Given the description of an element on the screen output the (x, y) to click on. 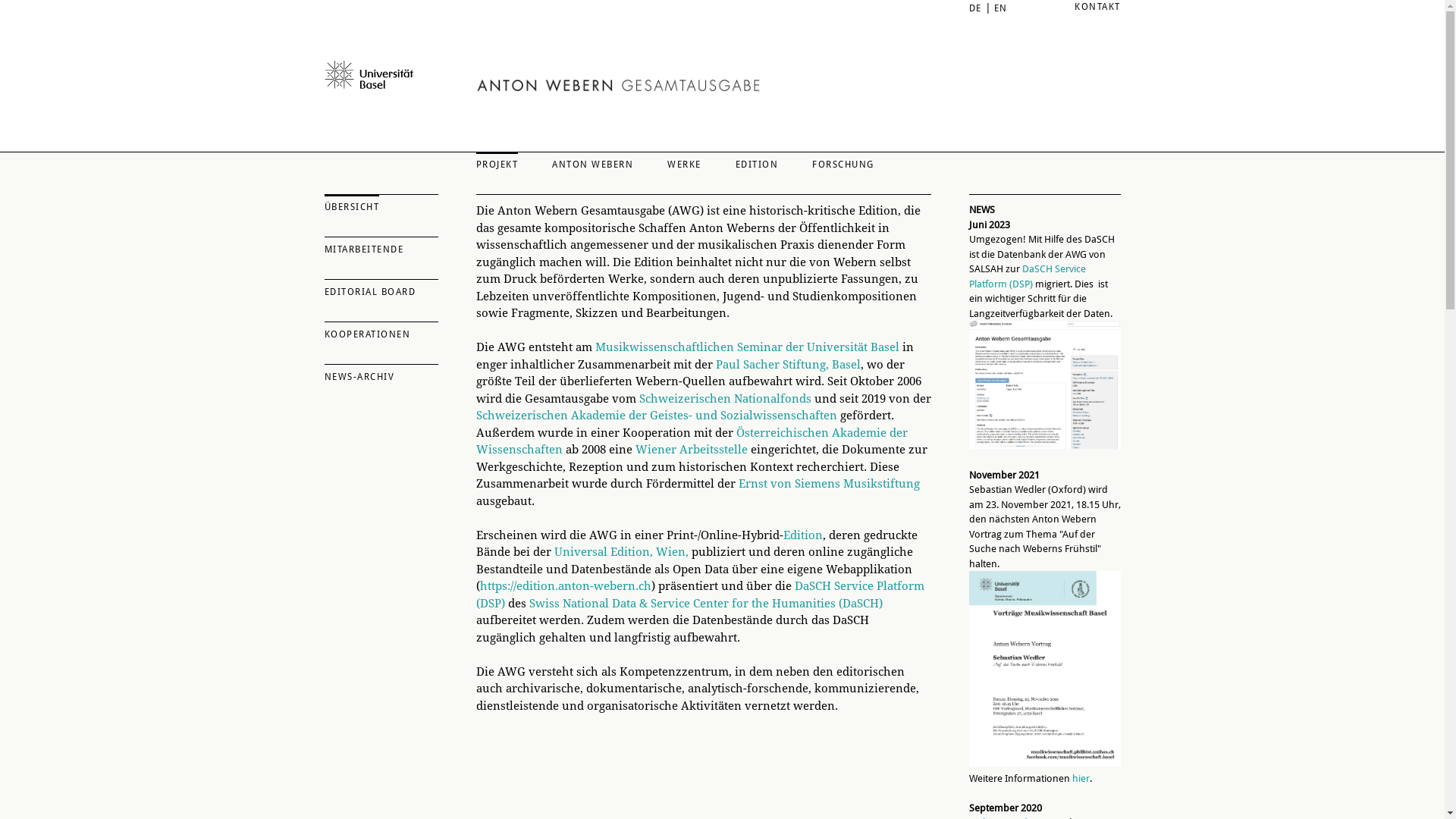
NEWS-ARCHIV Element type: text (381, 373)
Schweizerischen Nationalfonds Element type: text (724, 397)
EDITORIAL BOARD Element type: text (381, 288)
FORSCHUNG Element type: text (843, 161)
WERKE Element type: text (684, 161)
Universal Edition, Wien, Element type: text (620, 551)
hier Element type: text (1080, 778)
https://edition.anton-webern.ch Element type: text (564, 586)
DaSCH Service Platform (DSP) Element type: text (1027, 276)
PROJEKT Element type: text (497, 161)
MITARBEITENDE Element type: text (381, 246)
Ernst von Siemens Musikstiftung Element type: text (828, 483)
Paul Sacher Stiftung, Basel Element type: text (787, 364)
EN Element type: text (1000, 8)
KONTAKT Element type: text (1097, 6)
Edition Element type: text (802, 534)
DE Element type: text (975, 8)
ANTON WEBERN Element type: text (592, 161)
EDITION Element type: text (756, 161)
DaSCH Service Platform (DSP) Element type: text (700, 594)
KOOPERATIONEN Element type: text (381, 331)
Wiener Arbeitsstelle Element type: text (691, 449)
